Given the description of an element on the screen output the (x, y) to click on. 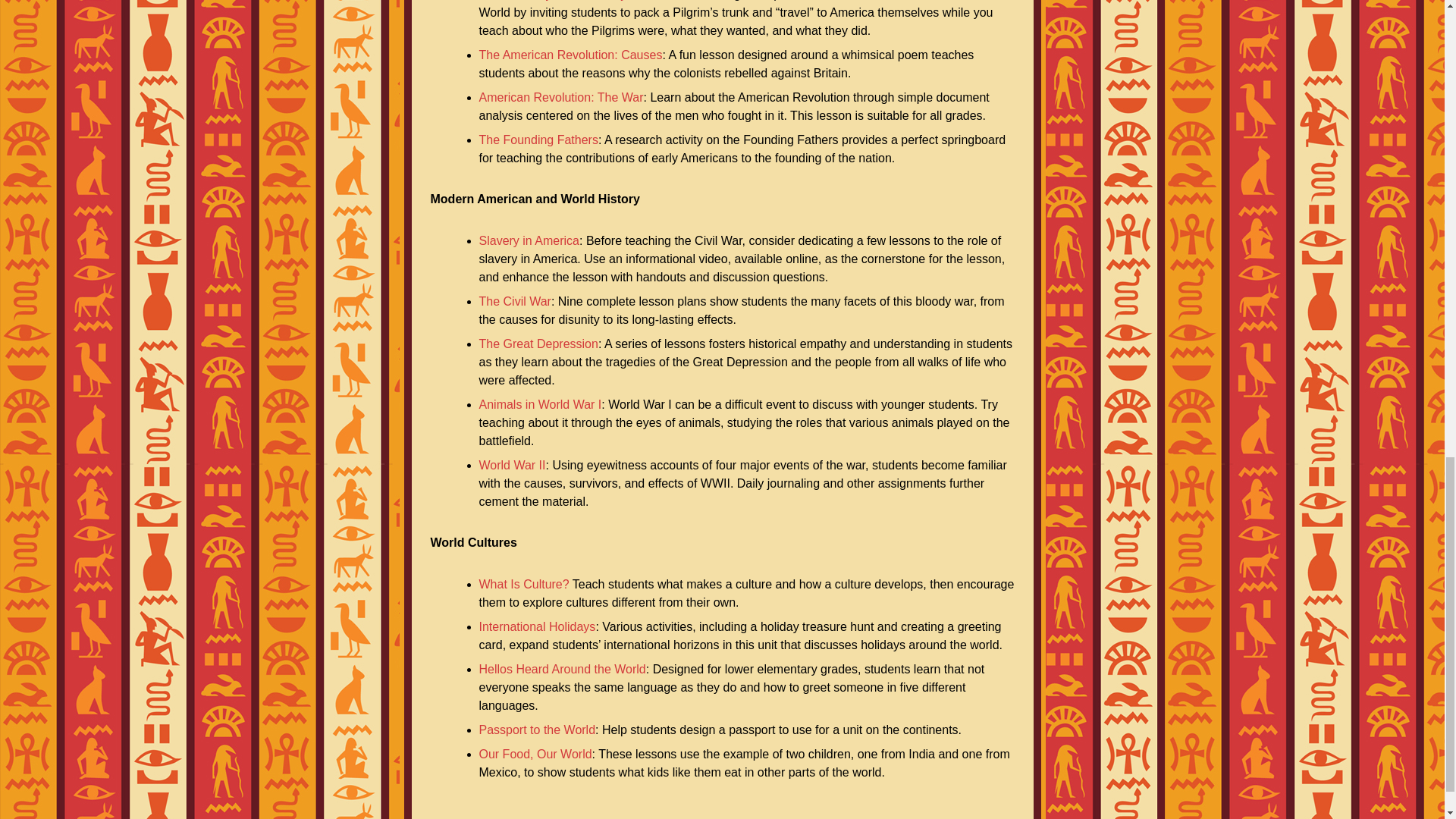
International Holidays (537, 626)
The American Revolution: Causes (570, 54)
Hellos Heard Around the World (562, 668)
What Is Culture? (524, 584)
American Revolution: The War (561, 97)
The Civil War (515, 300)
World War II (512, 464)
Slavery in America (529, 240)
The Great Depression (538, 343)
